Given the description of an element on the screen output the (x, y) to click on. 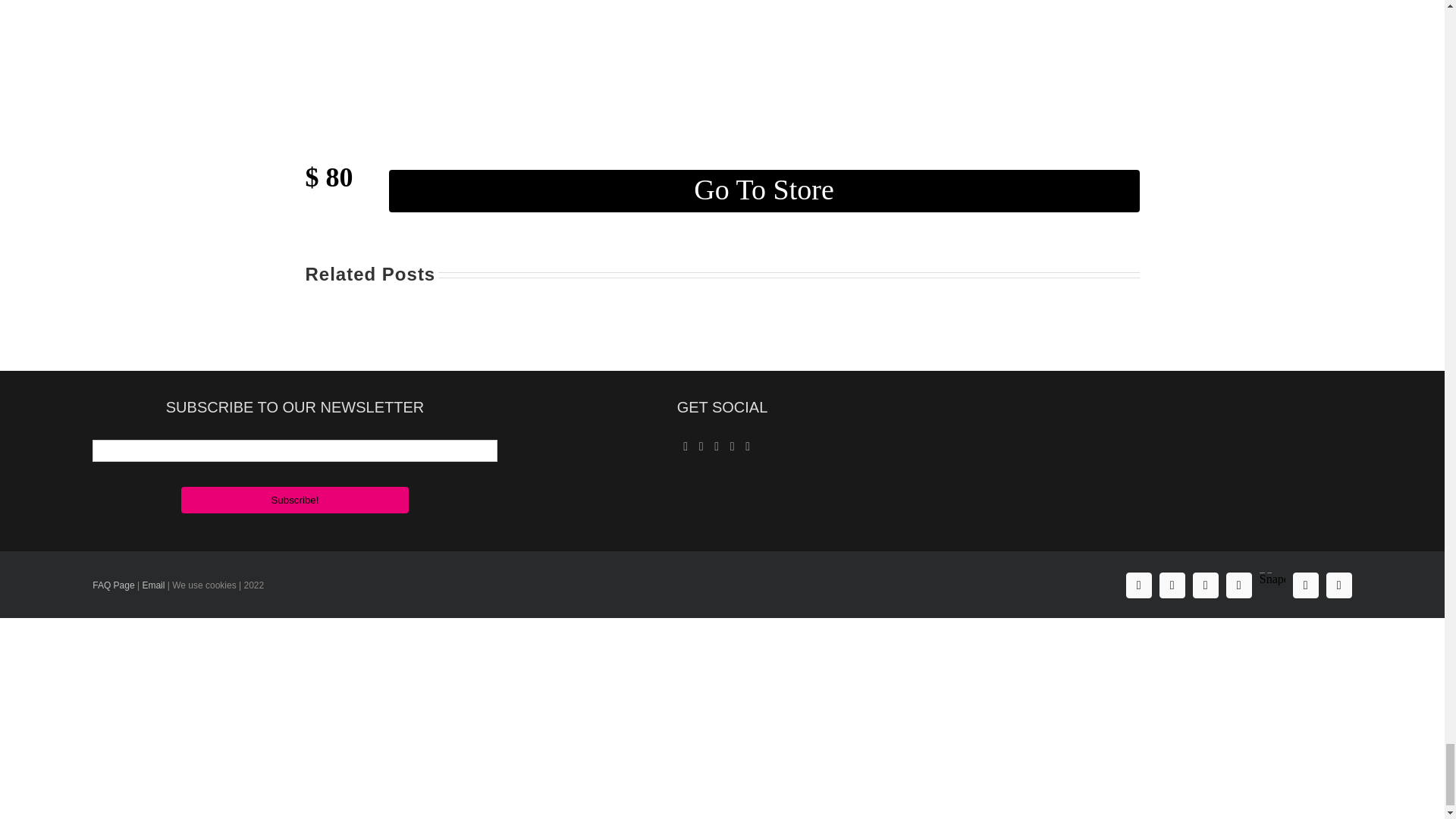
Tumblr (1339, 585)
Facebook (1138, 585)
Vk (1305, 585)
Twitter (1205, 585)
Pinterest (1238, 585)
Snapchat (1272, 573)
Twitter (1205, 585)
Facebook (1138, 585)
Subscribe! (294, 499)
Instagram (1171, 585)
